Given the description of an element on the screen output the (x, y) to click on. 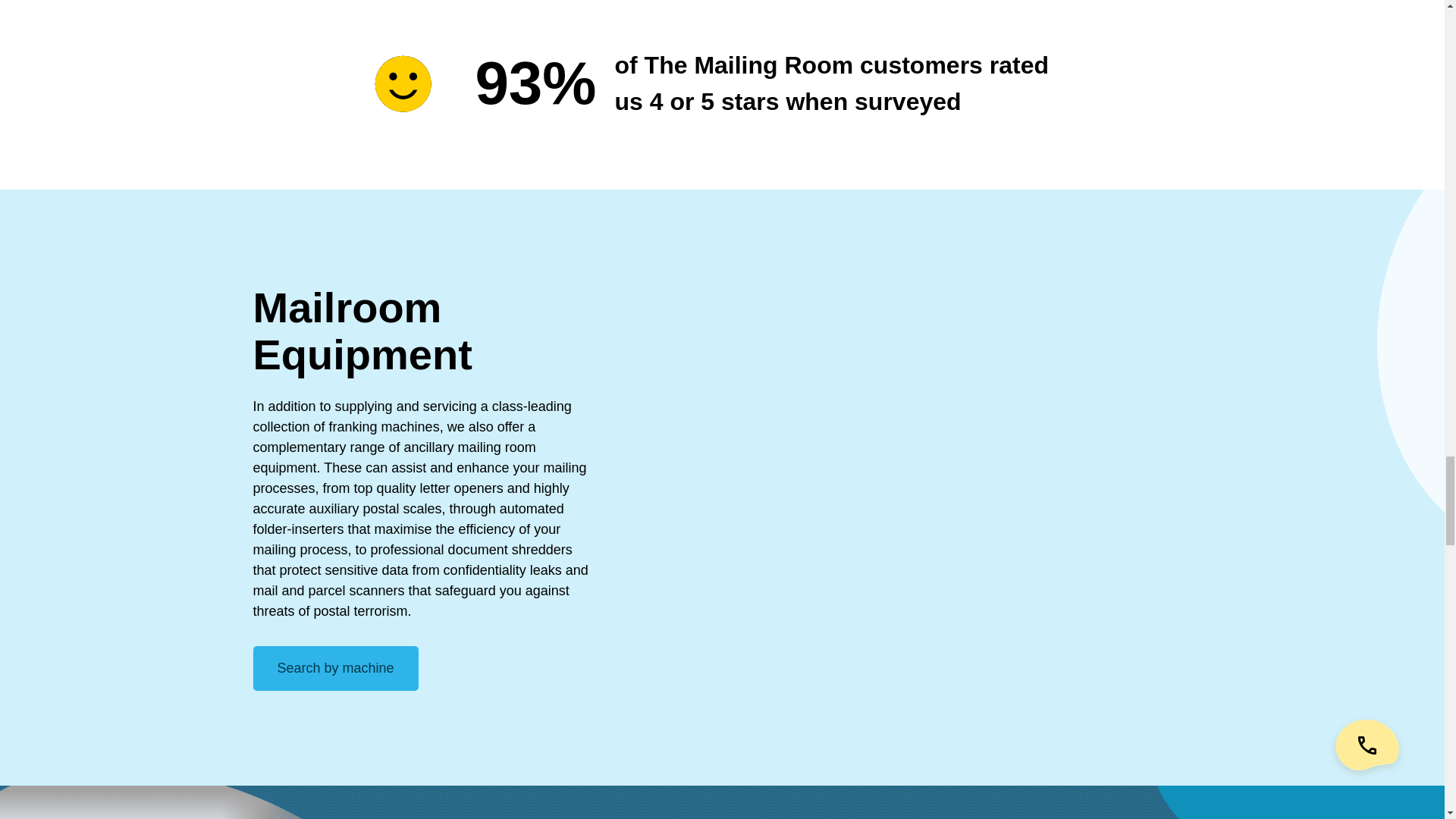
Search by machine (336, 668)
